Given the description of an element on the screen output the (x, y) to click on. 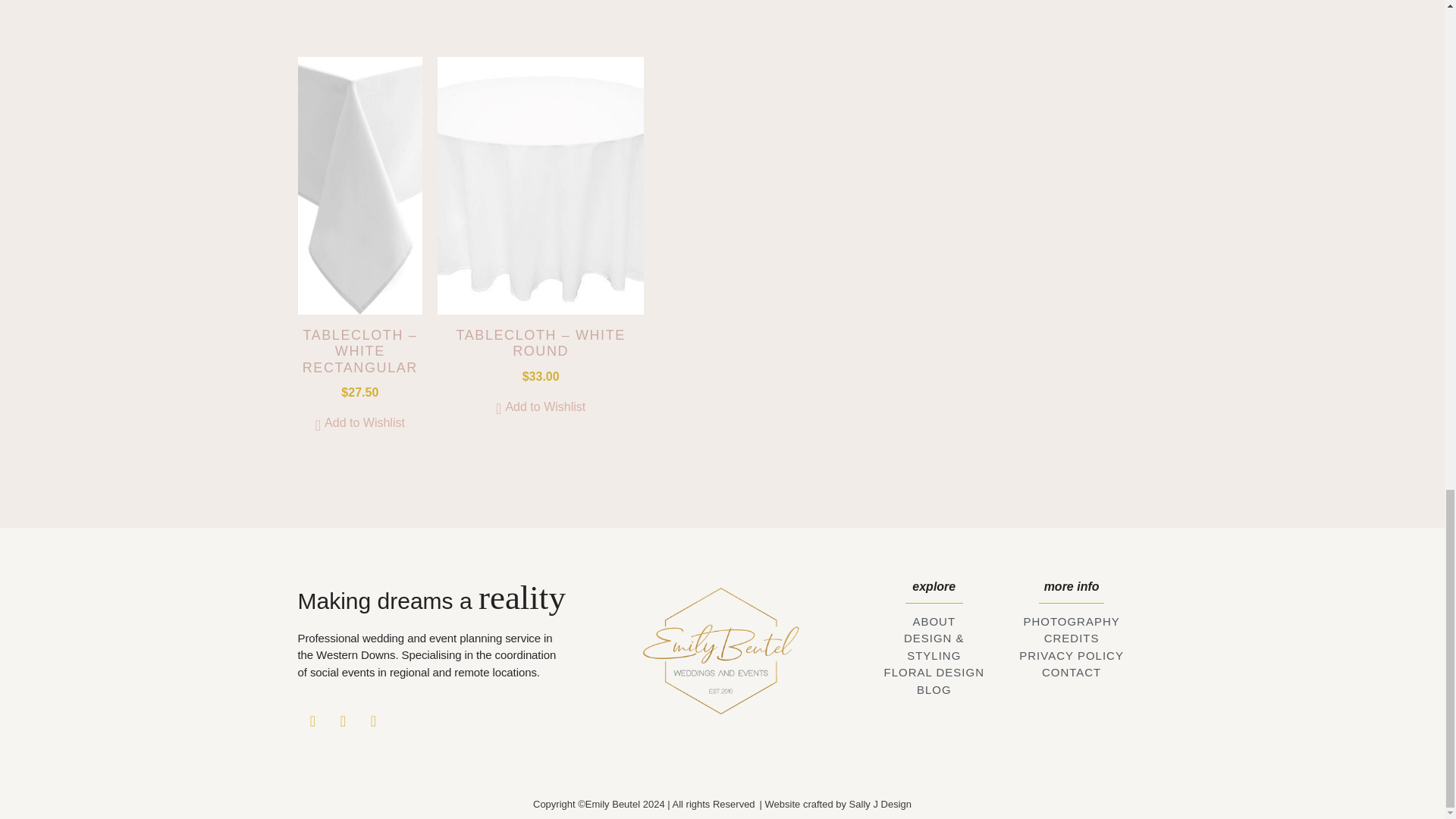
Add to Wishlist (359, 423)
Add to Wishlist (540, 407)
